Given the description of an element on the screen output the (x, y) to click on. 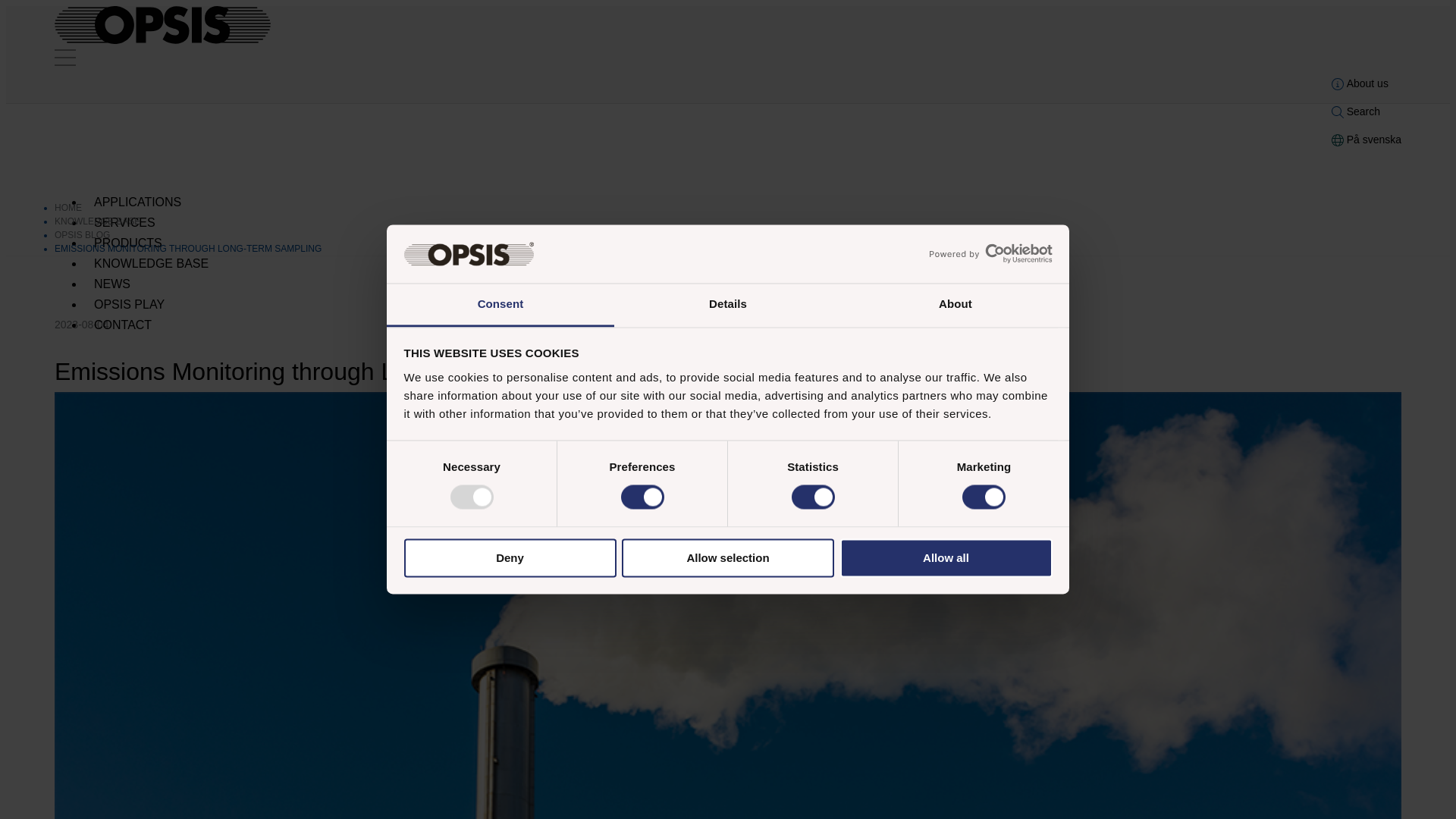
Details (727, 304)
Allow selection (727, 557)
Deny (509, 557)
About (954, 304)
Consent (500, 304)
Allow all (946, 557)
